Given the description of an element on the screen output the (x, y) to click on. 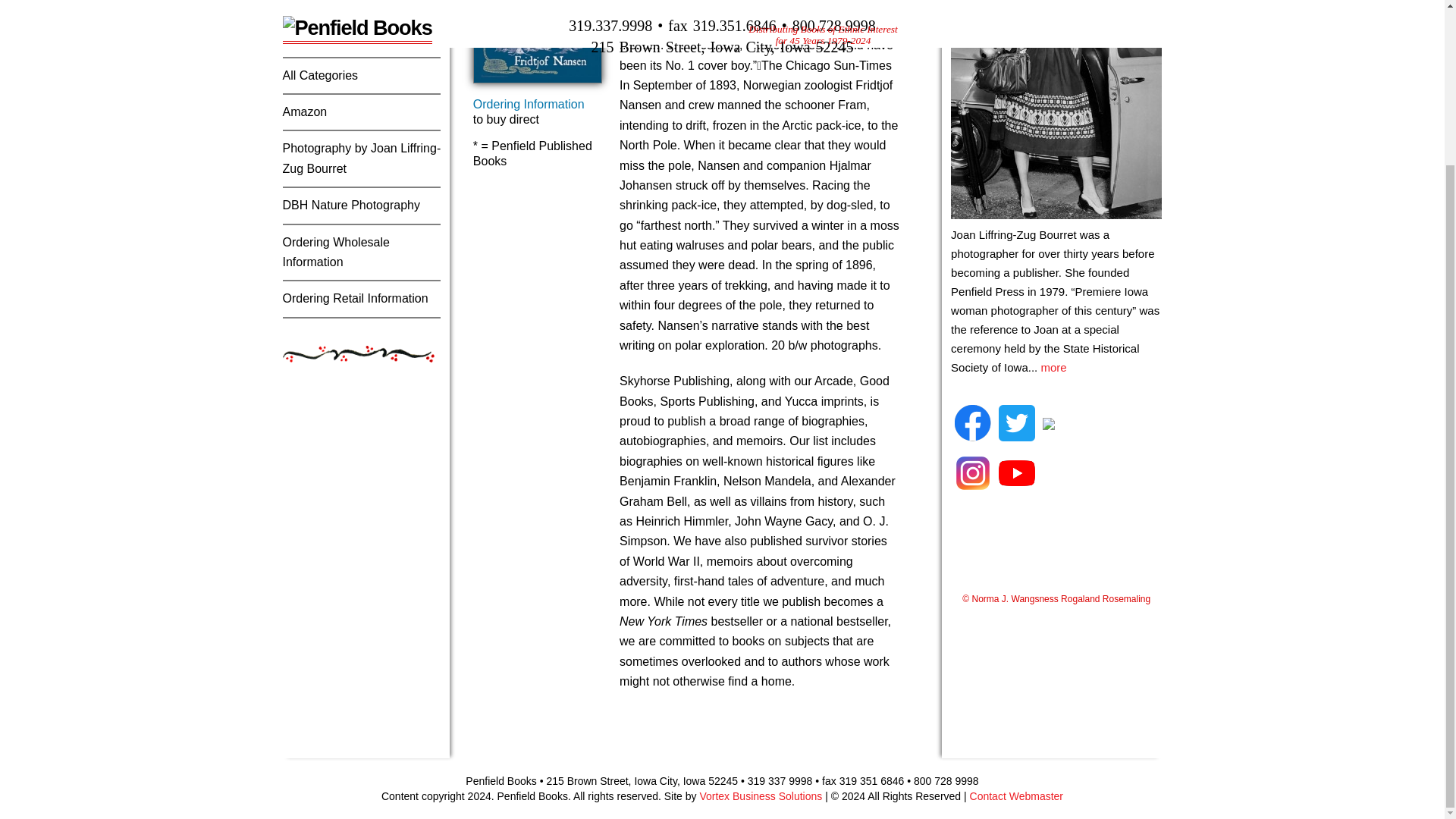
Contact Webmaster (1015, 796)
Ordering Wholesale Information (335, 251)
DBH Nature Photography (350, 205)
more (1053, 367)
Ordering Retail Information (355, 297)
Ordering Information (529, 103)
Vortex Business Solutions (760, 796)
Amazon (304, 111)
About Joan (312, 4)
All Categories (320, 74)
Photography by Joan Liffring-Zug Bourret (361, 157)
